Given the description of an element on the screen output the (x, y) to click on. 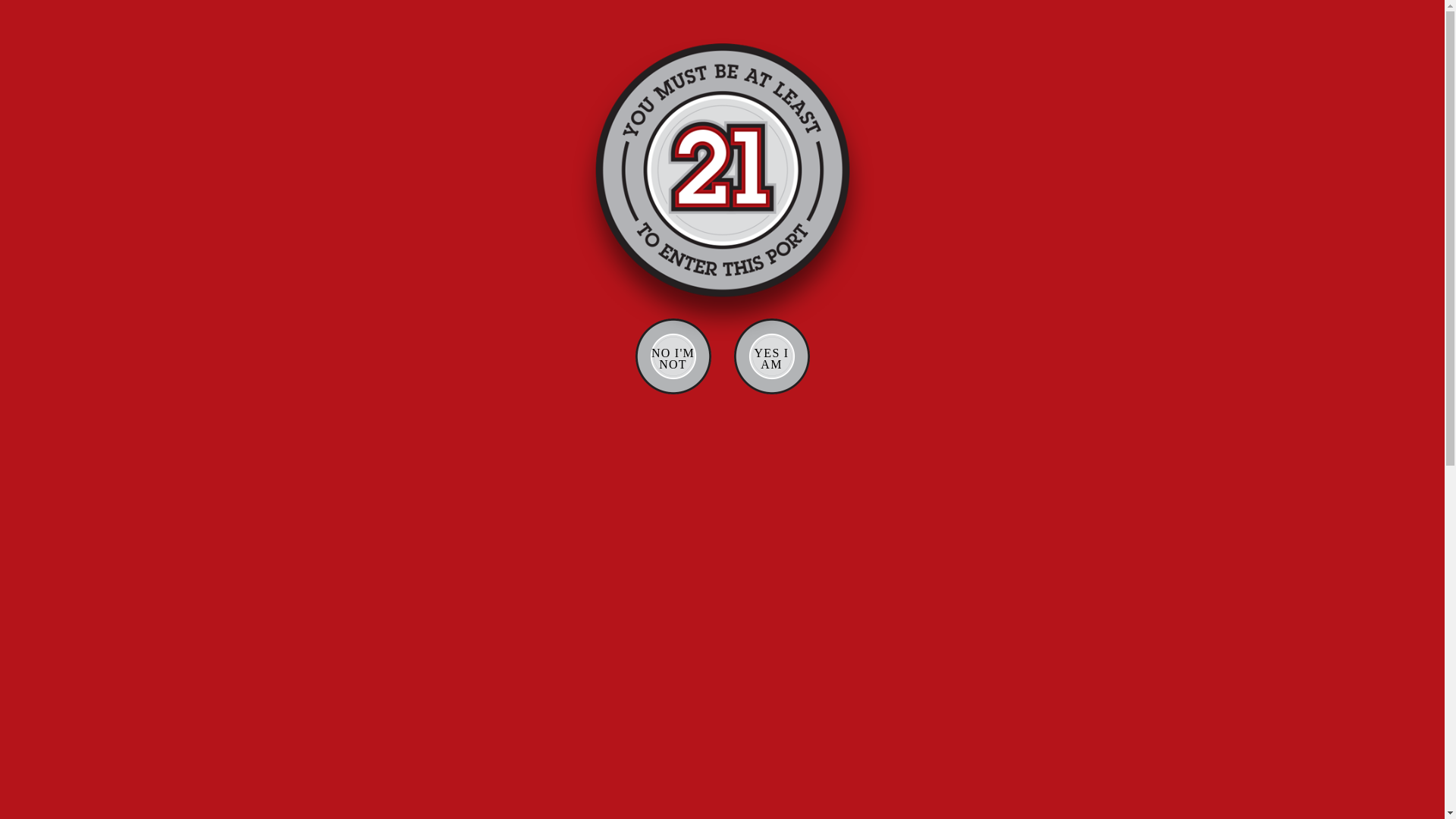
GALLERY (900, 57)
SEASONAL (575, 269)
OUT AND ABOUT (425, 269)
SHOP (948, 17)
NEWSLETTERS (575, 246)
BEERS (663, 57)
NO I'M NOT (672, 355)
IN THE NEWS (575, 223)
AROUND THE BREWERY (425, 201)
MEDIA (895, 17)
